Given the description of an element on the screen output the (x, y) to click on. 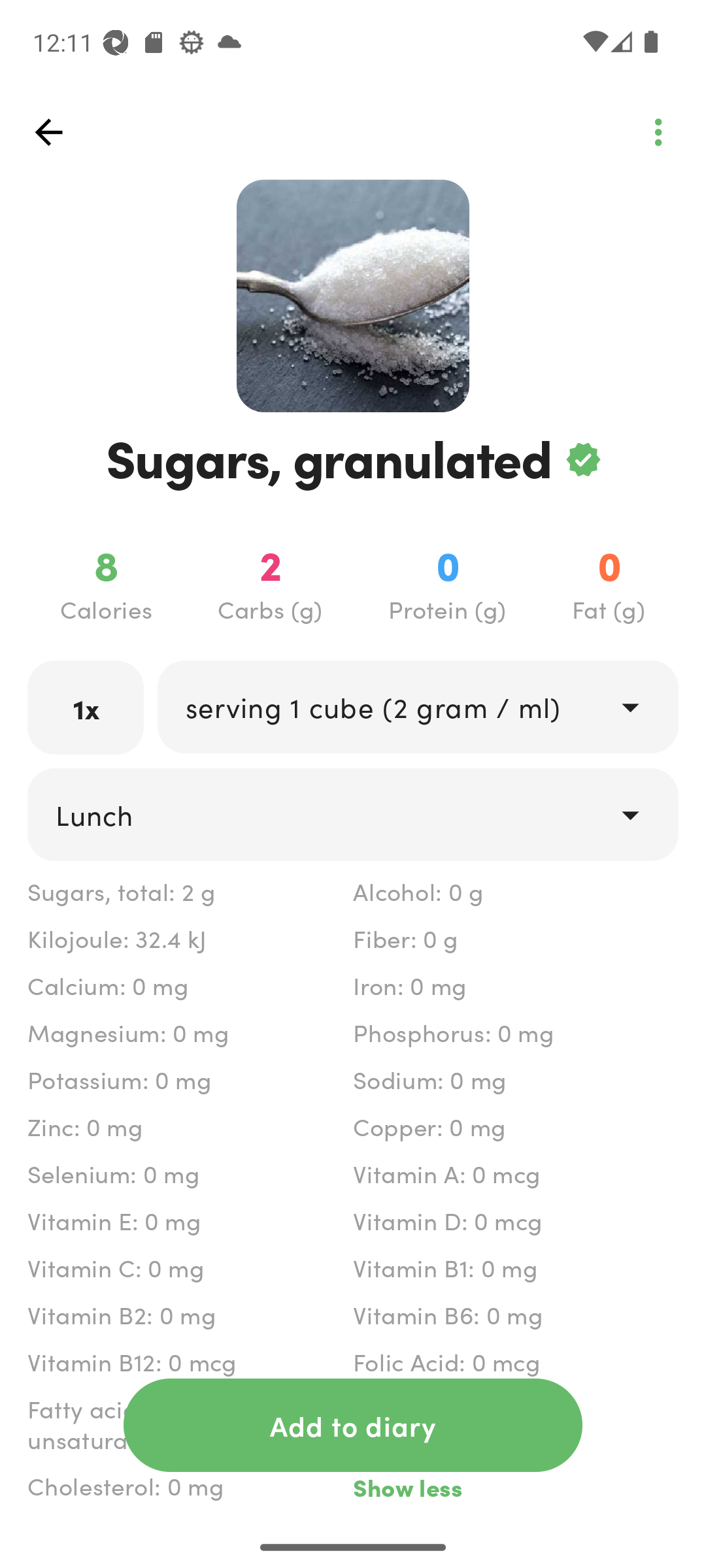
top_left_action (48, 132)
top_left_action (658, 132)
1x labeled_edit_text (85, 707)
drop_down serving 1 cube (2 gram / ml) (417, 706)
drop_down Lunch (352, 814)
action_button Add to diary (352, 1425)
Show less (515, 1486)
